Given the description of an element on the screen output the (x, y) to click on. 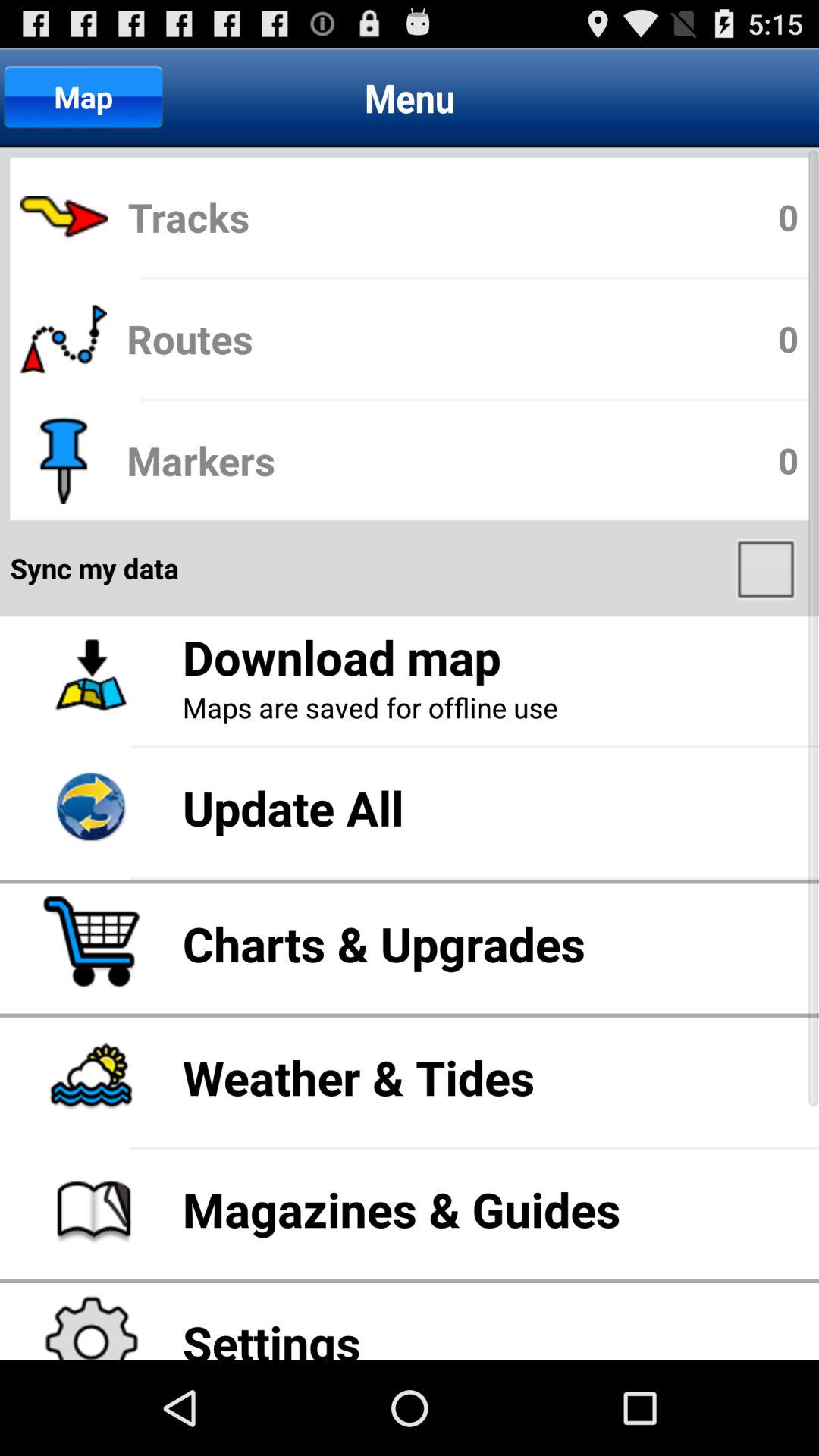
sync data (767, 567)
